Given the description of an element on the screen output the (x, y) to click on. 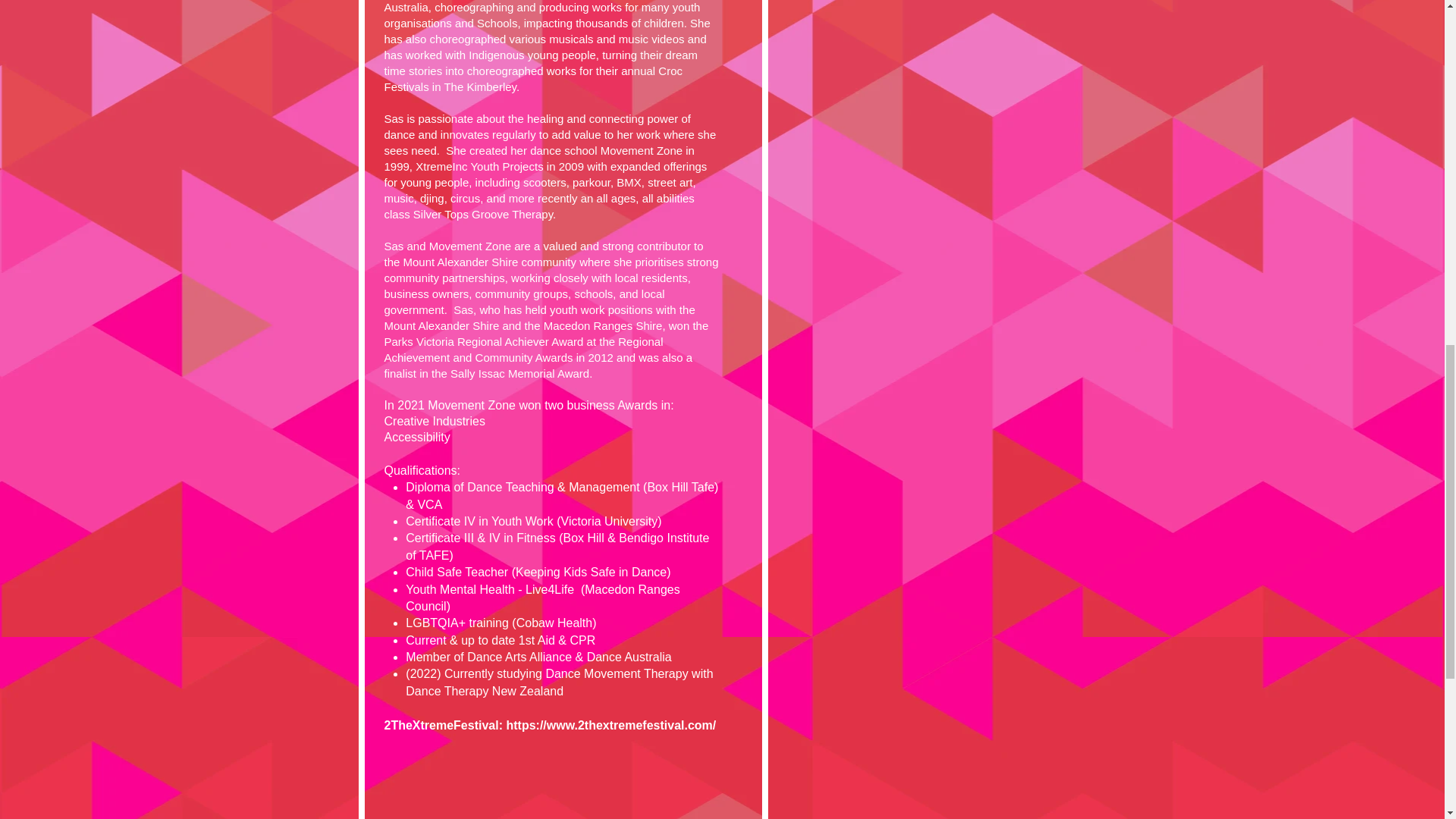
POLICIES AND PROCEDURES 2021.pdf (405, 787)
